Given the description of an element on the screen output the (x, y) to click on. 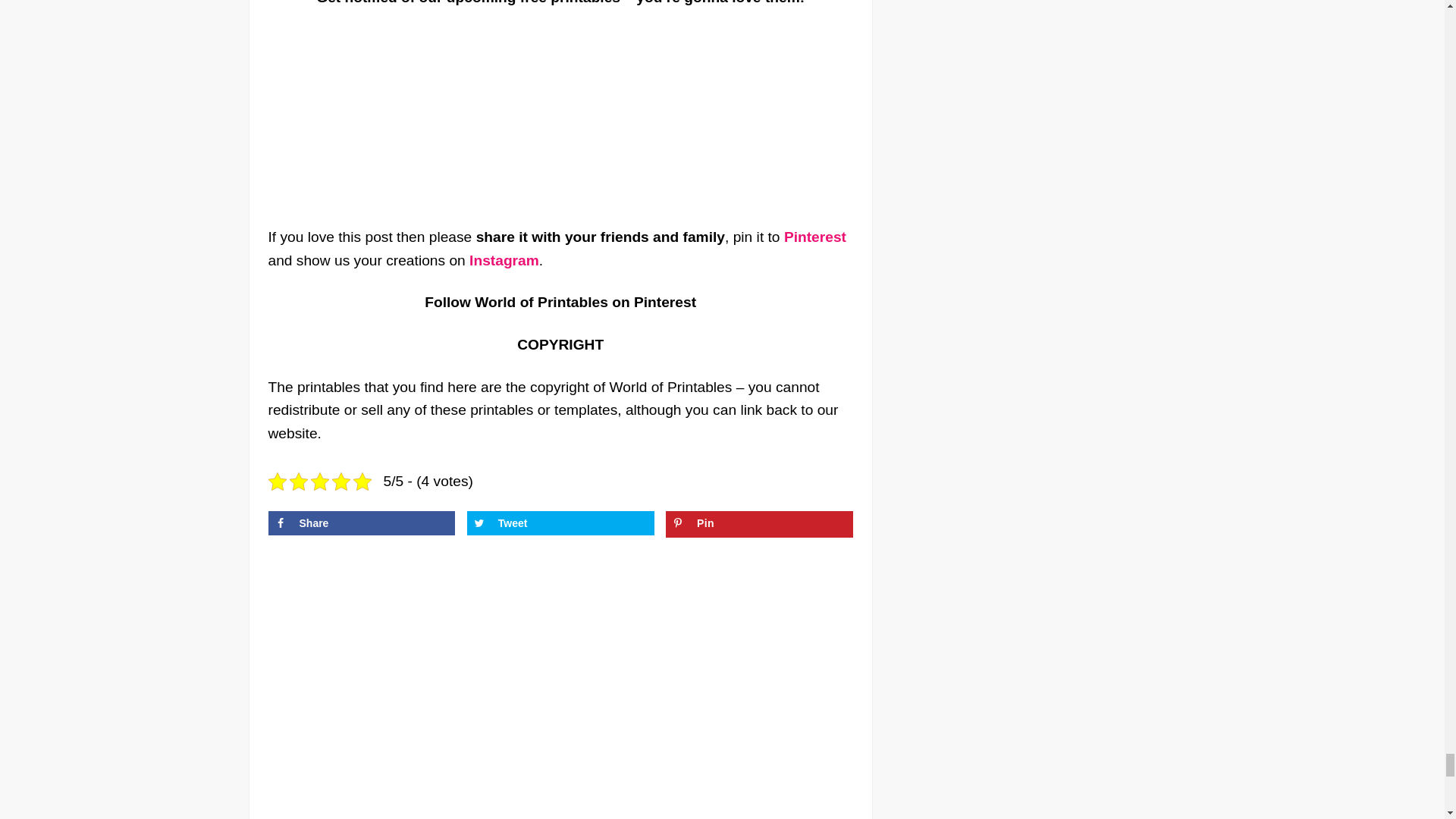
Share on Facebook (361, 523)
Share on Twitter (560, 523)
Save to Pinterest (759, 524)
